Given the description of an element on the screen output the (x, y) to click on. 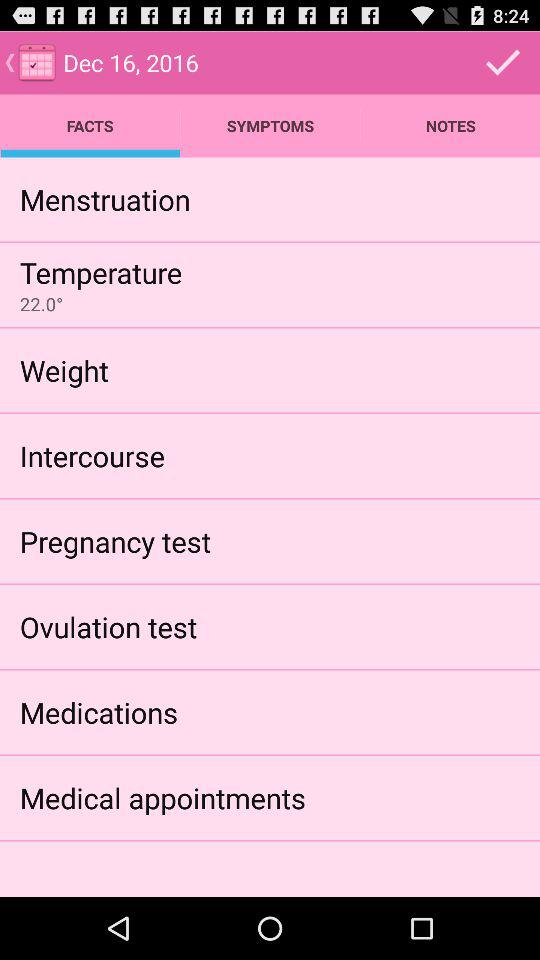
swipe until medical appointments icon (162, 797)
